Given the description of an element on the screen output the (x, y) to click on. 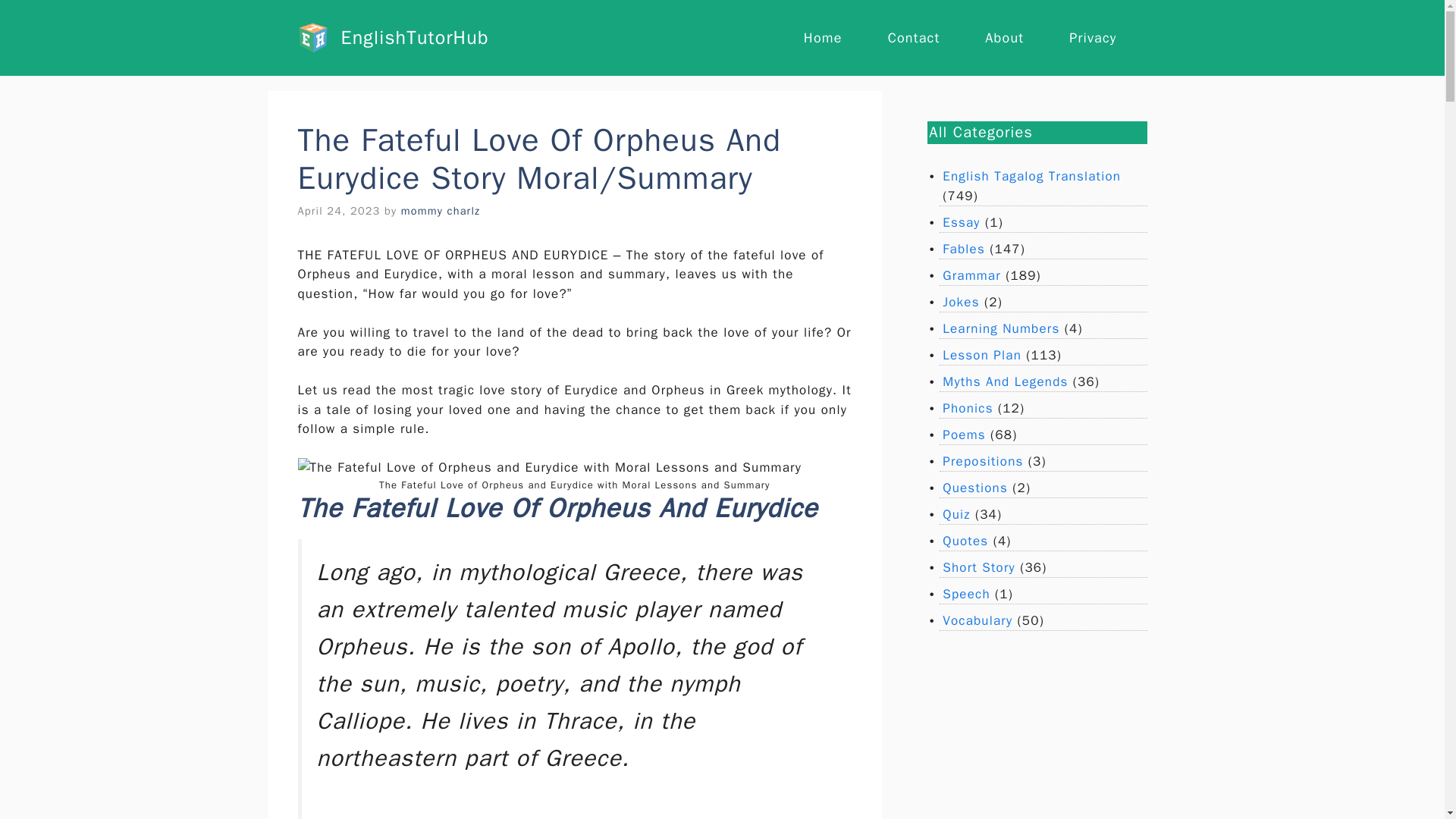
Home (823, 37)
Privacy (1092, 37)
Essay (960, 221)
EnglishTutorHub (414, 37)
Grammar (971, 274)
Fables (963, 248)
About (1004, 37)
Contact (913, 37)
English Tagalog Translation (1031, 176)
mommy charlz (440, 210)
